Given the description of an element on the screen output the (x, y) to click on. 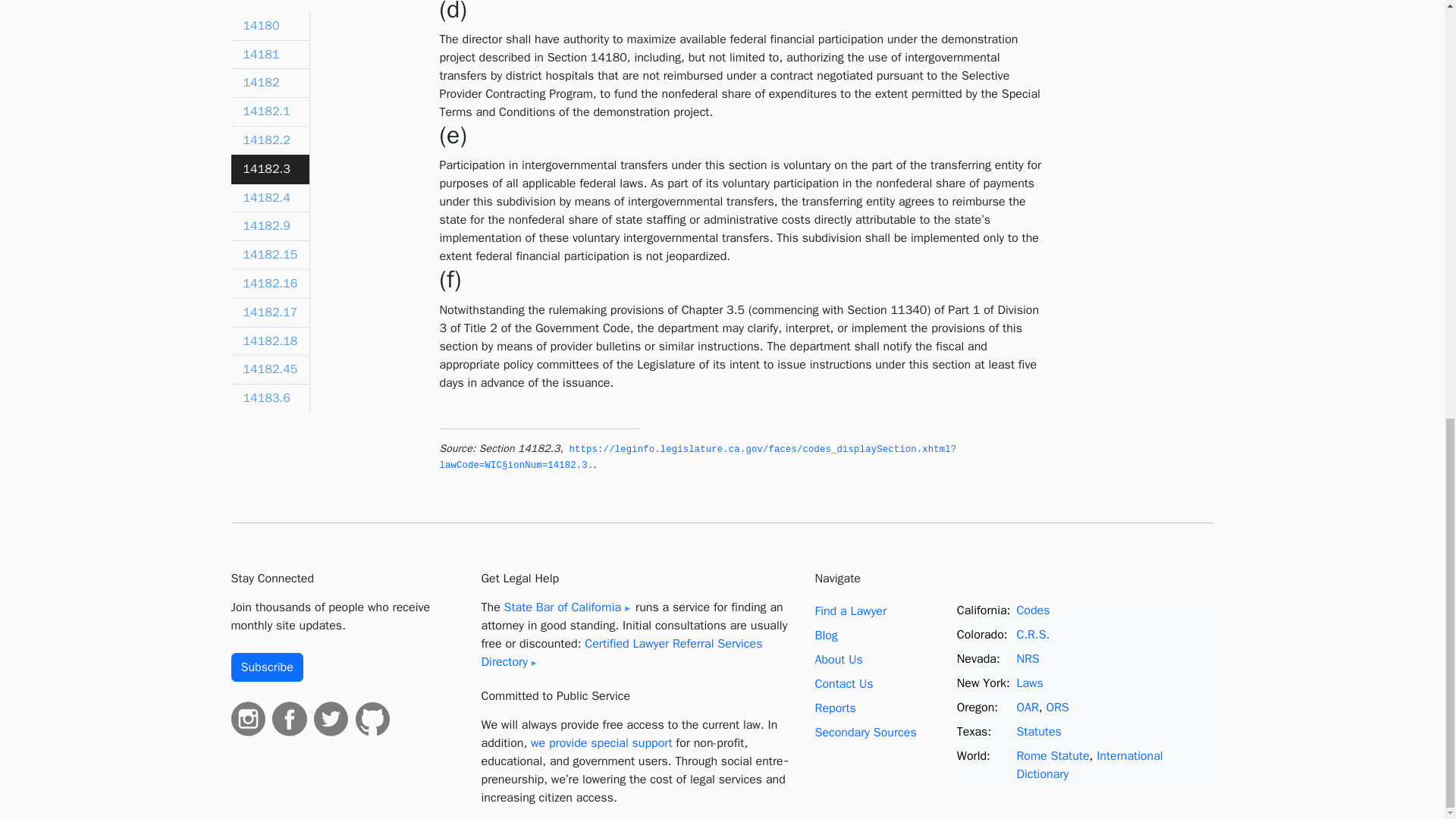
State Bar of California (567, 607)
Subscribe (266, 666)
About Us (837, 659)
we provide special support (601, 743)
Certified Lawyer Referral Services Directory (620, 652)
Find a Lawyer (849, 611)
Blog (825, 635)
